Given the description of an element on the screen output the (x, y) to click on. 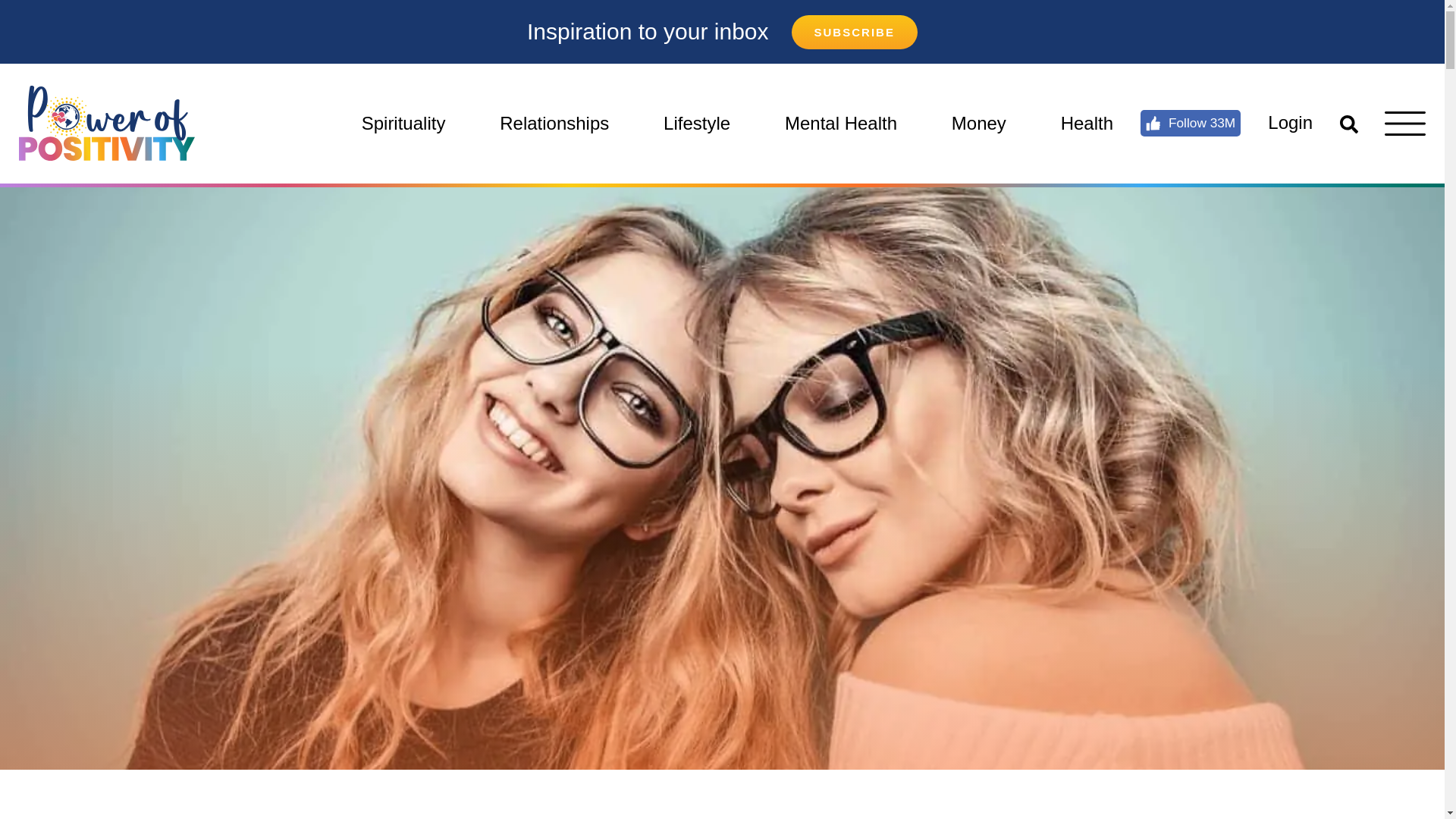
Follow 33M (1189, 122)
Mental Health (840, 123)
SUBSCRIBE (854, 32)
Money (978, 123)
Lifestyle (696, 123)
Login (1290, 122)
Health (1086, 123)
Spirituality (403, 123)
Relationships (553, 123)
